Given the description of an element on the screen output the (x, y) to click on. 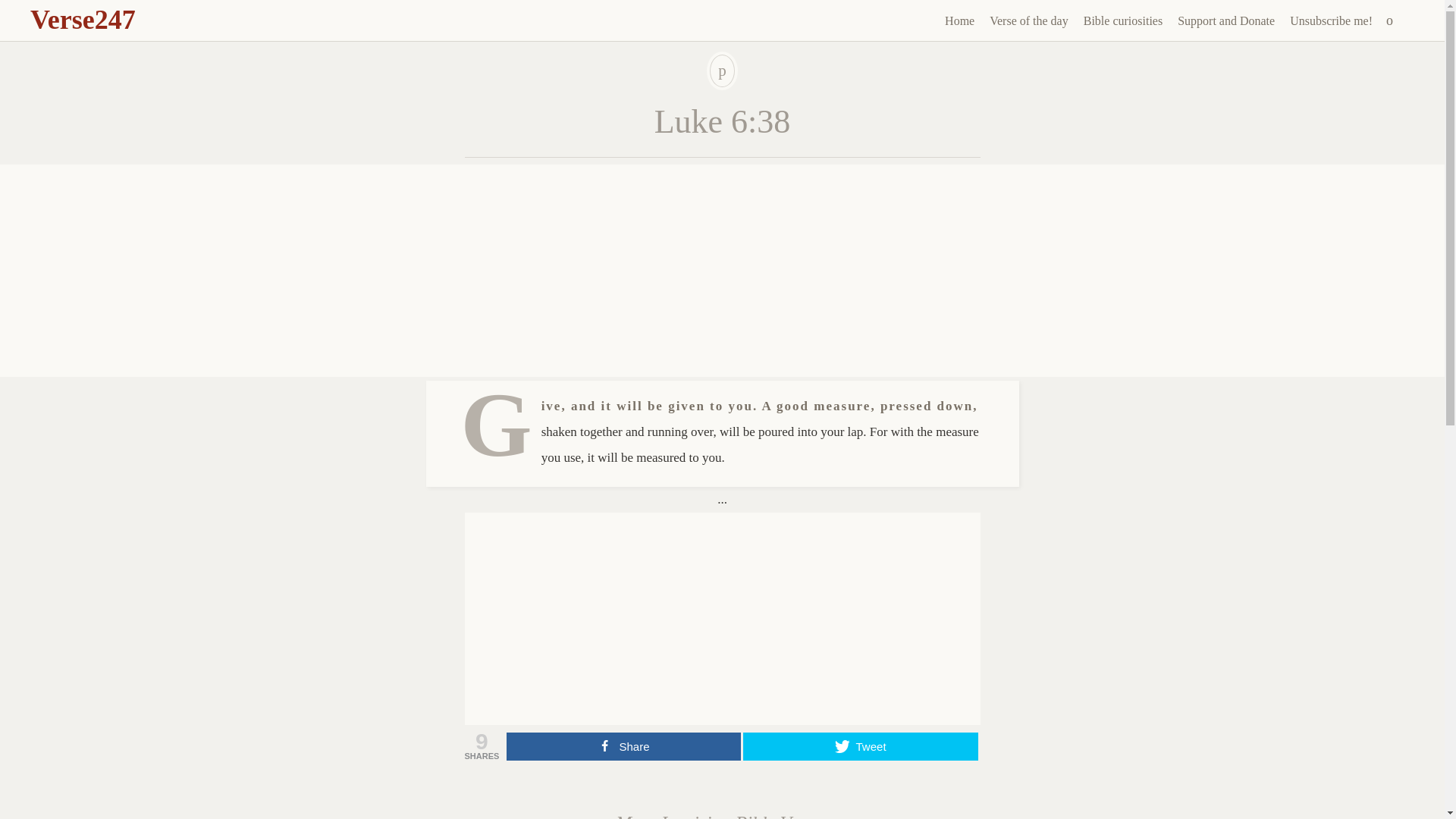
Verse247 (82, 19)
Advertisement (721, 618)
Search (11, 9)
Bible curiosities (1122, 21)
Tweet (859, 746)
Home (959, 21)
Verse247 (82, 19)
Support and Donate (1226, 21)
Unsubscribe me! (1331, 21)
Share (623, 746)
Verse of the day (1028, 21)
